Given the description of an element on the screen output the (x, y) to click on. 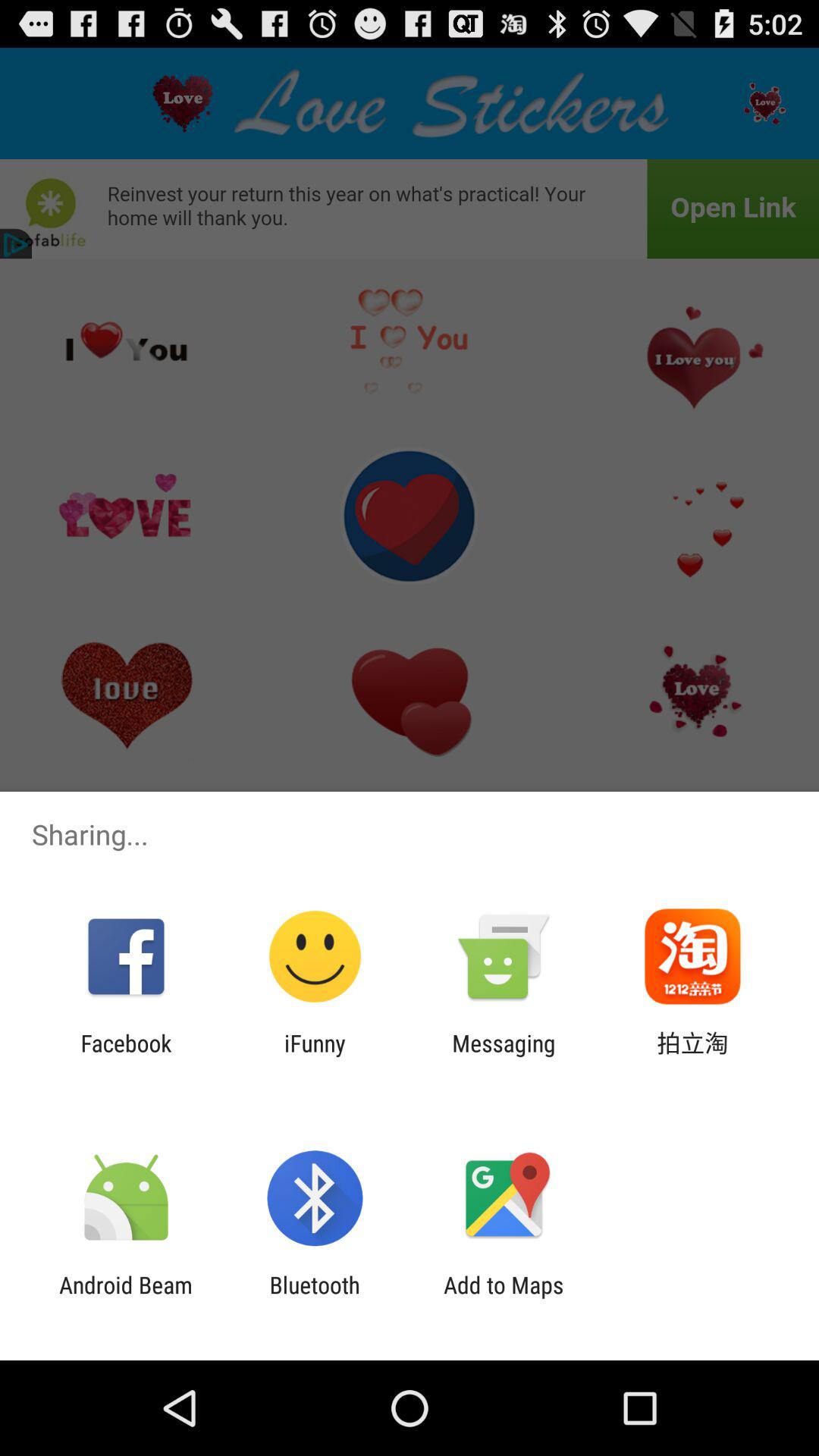
tap item to the right of the facebook app (314, 1056)
